Given the description of an element on the screen output the (x, y) to click on. 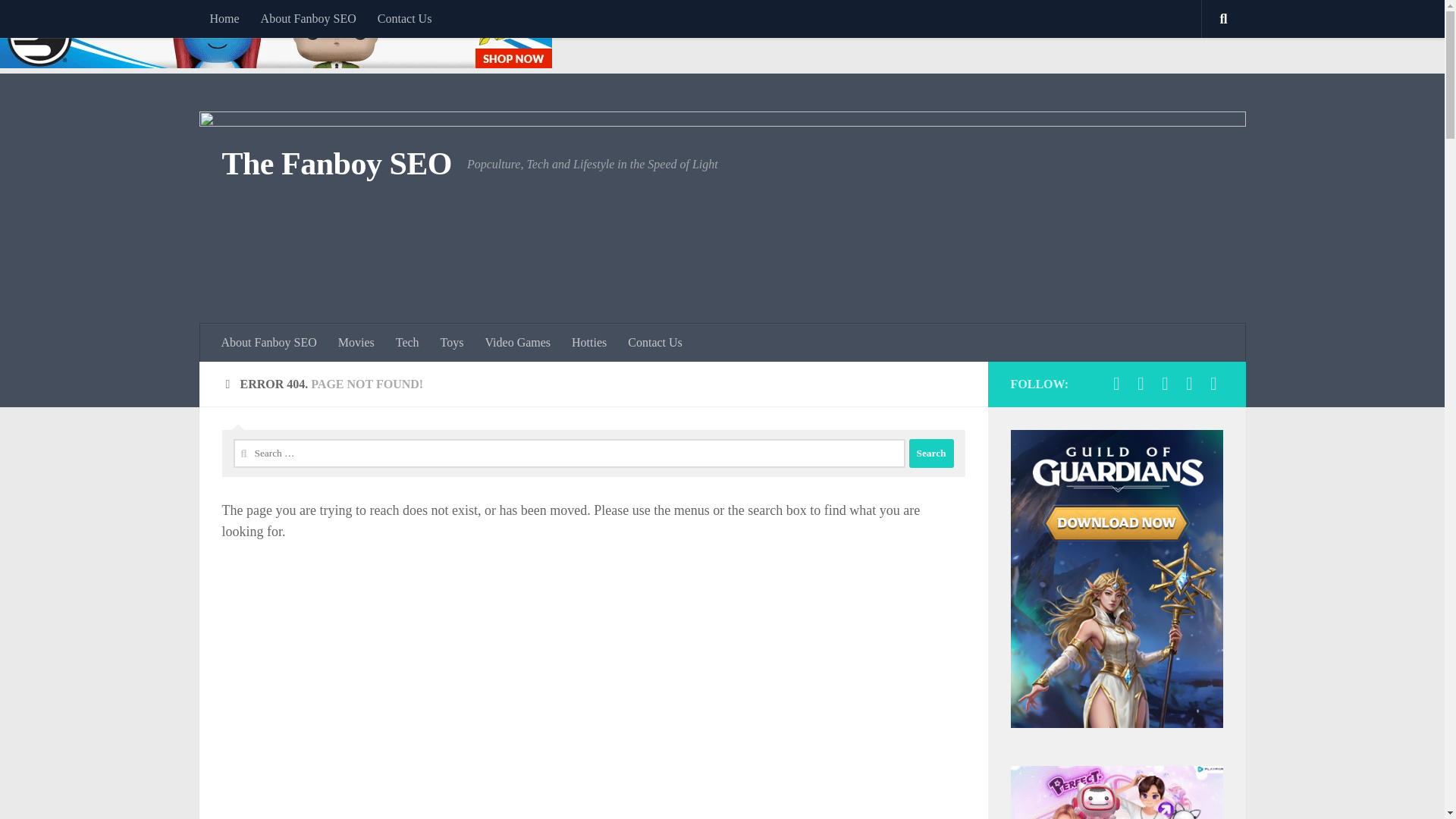
Follow us on Facebook (1115, 383)
Tech (407, 342)
Contact Us (404, 18)
Search (930, 452)
Video Games (517, 342)
Follow us on Twitter (1140, 383)
Hotties (588, 342)
Movies (356, 342)
Follow us on Youtube (1164, 383)
Search (930, 452)
Search (930, 452)
Home (223, 18)
Follow us on Instagram (1213, 383)
Toys (451, 342)
Contact Us (655, 342)
